Given the description of an element on the screen output the (x, y) to click on. 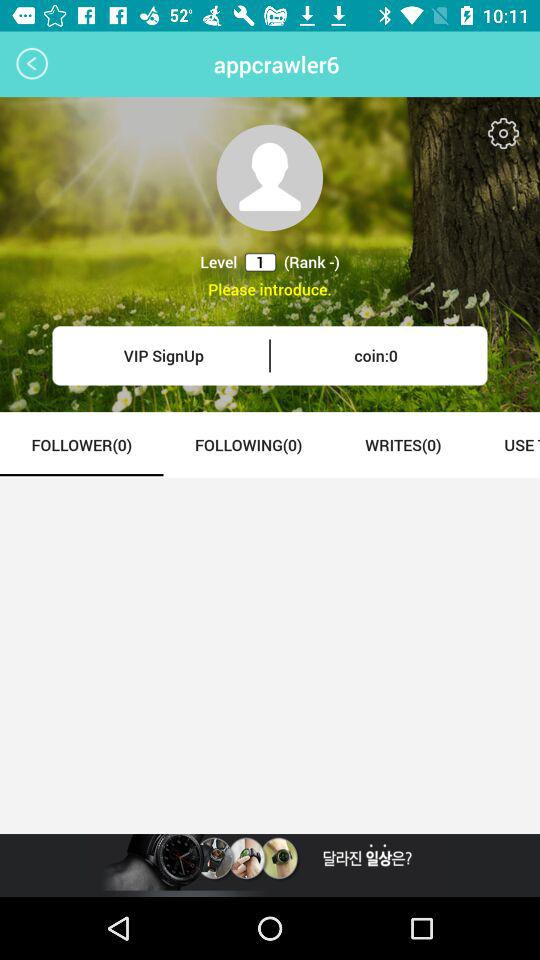
profile picture (269, 177)
